Given the description of an element on the screen output the (x, y) to click on. 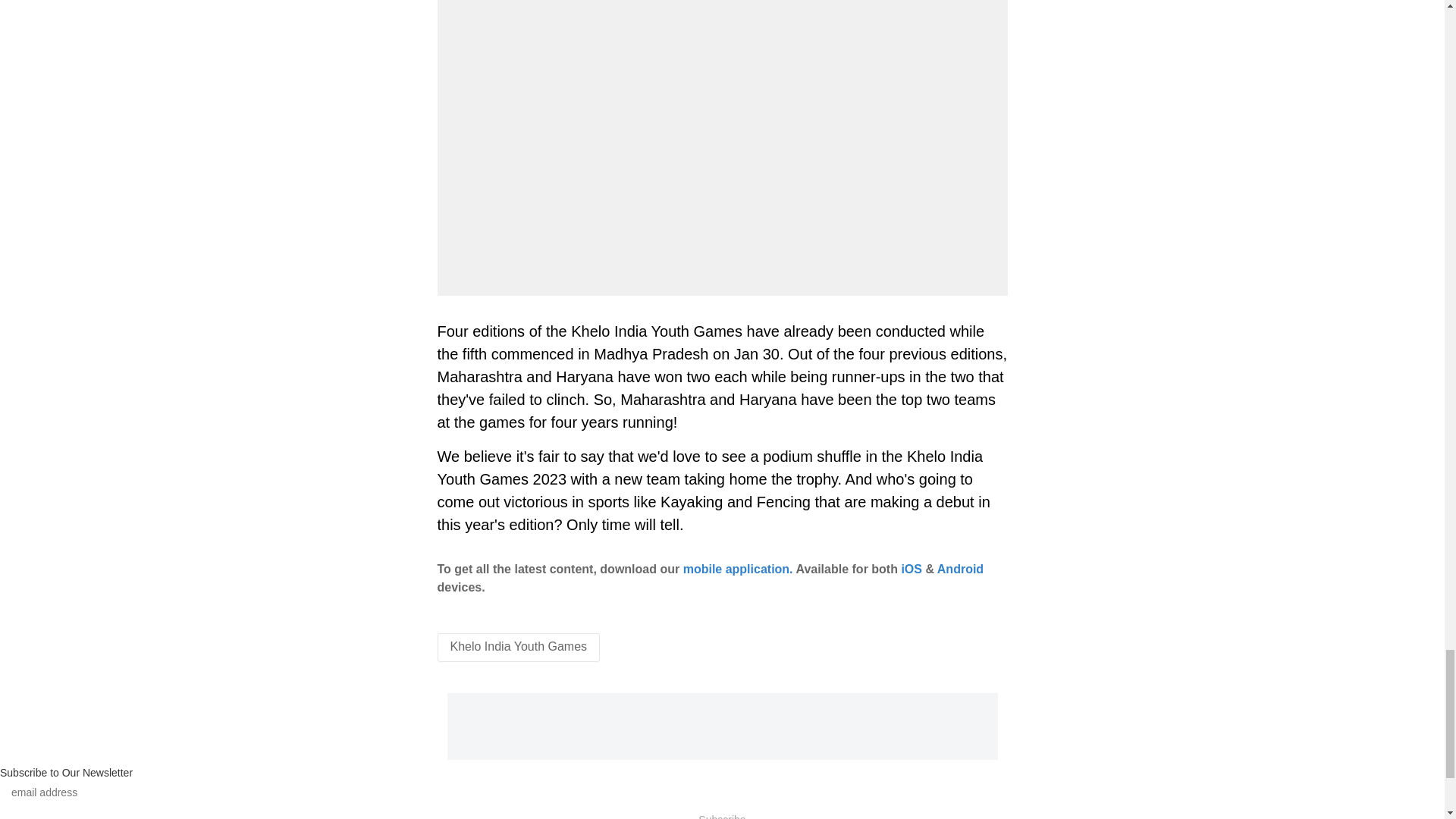
iOS (911, 568)
Khelo India Youth Games (518, 645)
Android (960, 568)
mobile application. (737, 568)
